Given the description of an element on the screen output the (x, y) to click on. 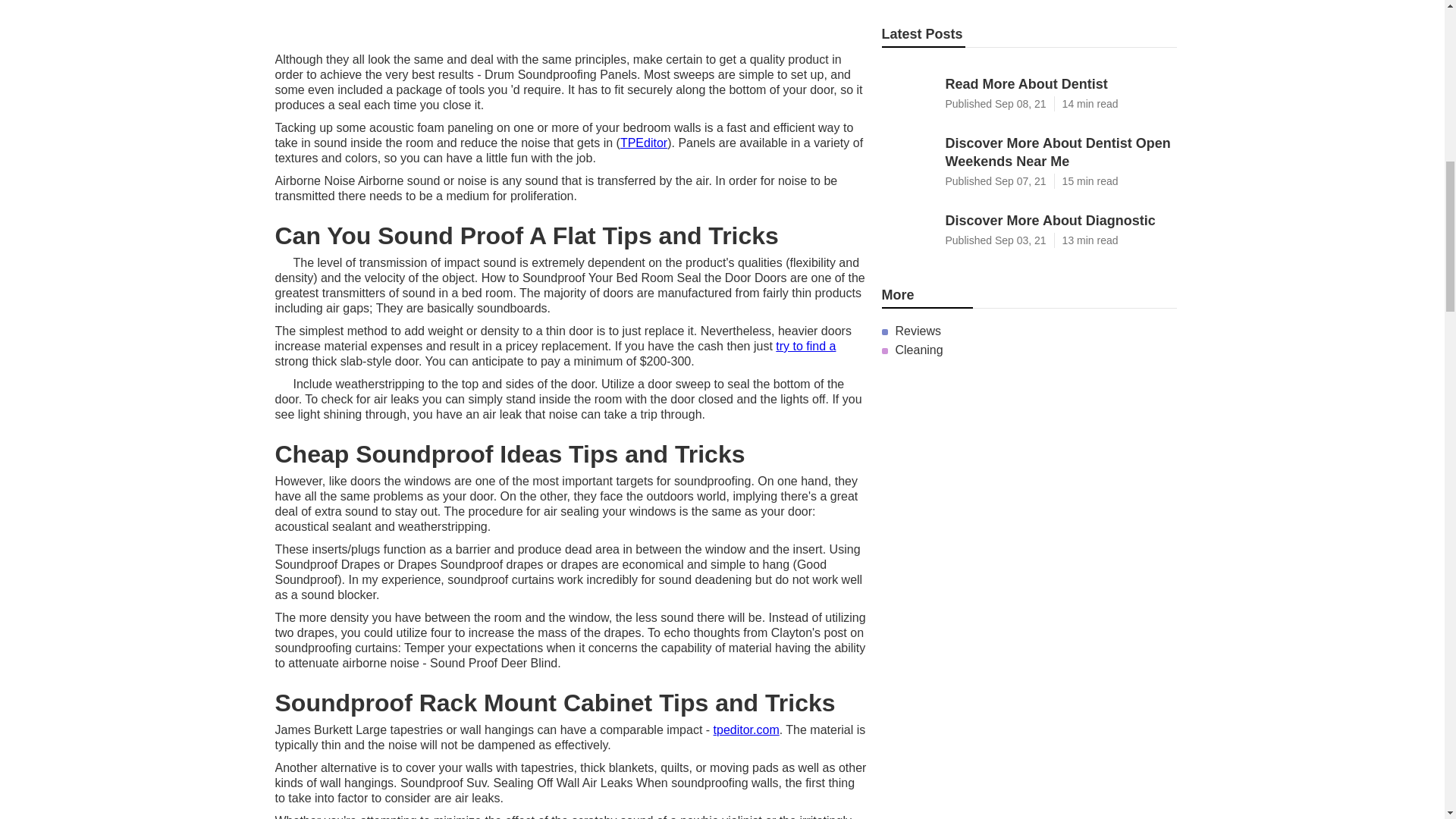
TPEditor (643, 142)
try to find a (805, 345)
tpeditor.com (745, 729)
